Given the description of an element on the screen output the (x, y) to click on. 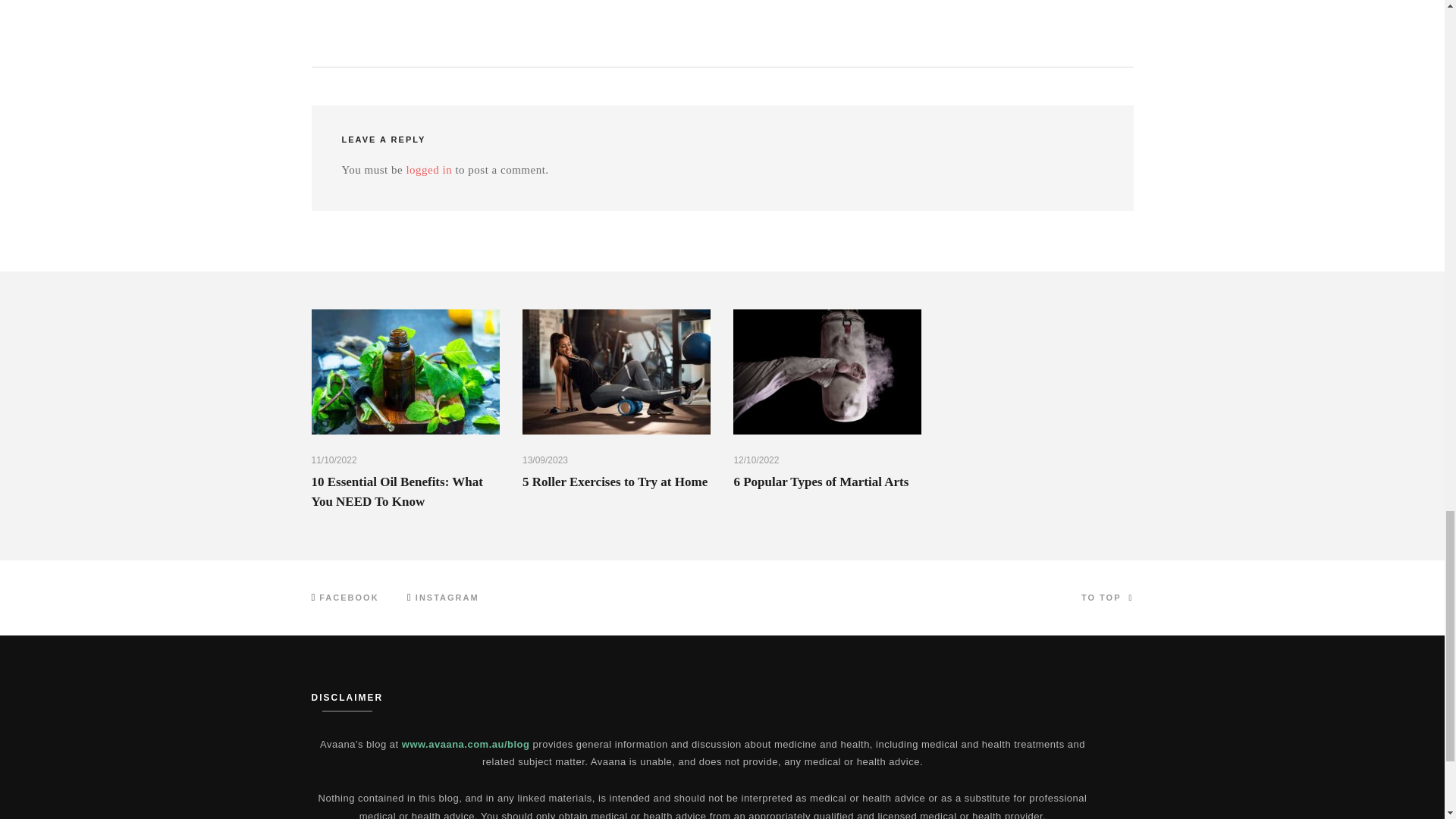
TO TOP (1107, 597)
5 Roller Exercises to Try at Home (614, 481)
logged in (428, 169)
10 Essential Oil Benefits: What You NEED To Know (396, 491)
